Given the description of an element on the screen output the (x, y) to click on. 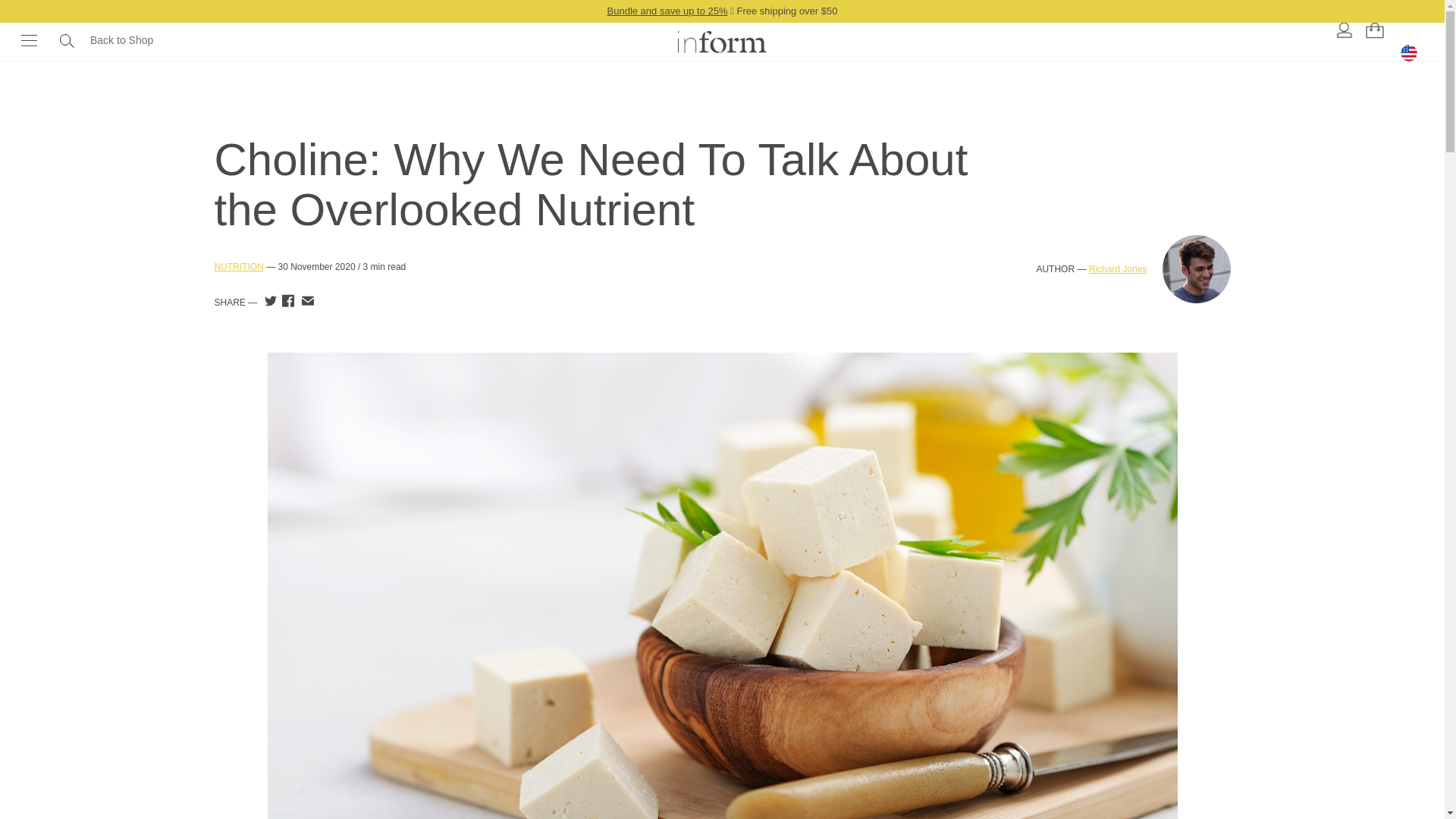
Back to Shop (121, 52)
NUTRITION (238, 266)
Richard Jones (1118, 268)
